Given the description of an element on the screen output the (x, y) to click on. 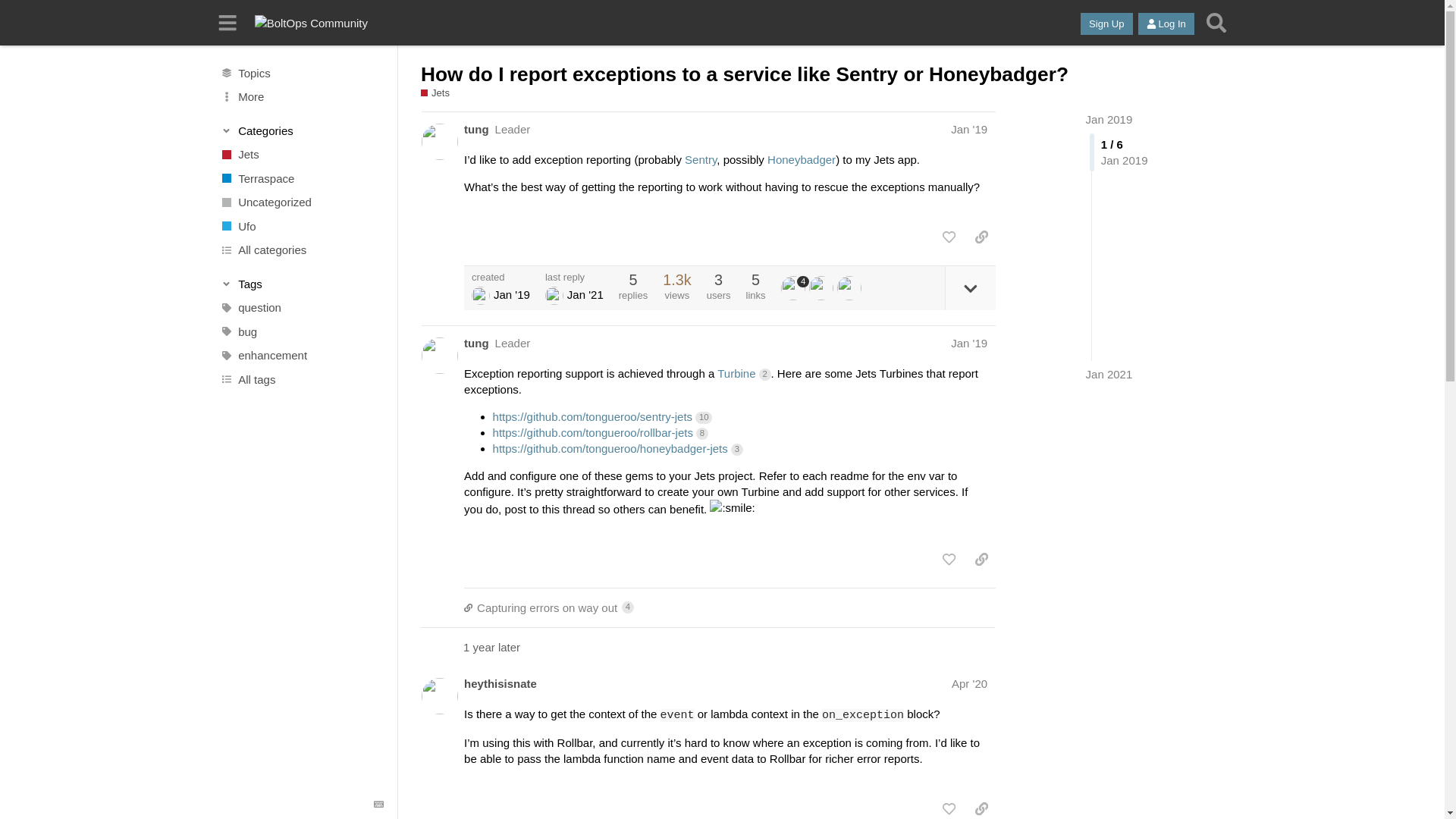
Jan 2019 (1109, 119)
Jan 2019 (1109, 119)
4 (794, 288)
More (301, 96)
Uncategorized (301, 202)
last reply (574, 276)
Sign Up (1106, 24)
question (301, 307)
Search (1215, 22)
Topics (301, 72)
